Given the description of an element on the screen output the (x, y) to click on. 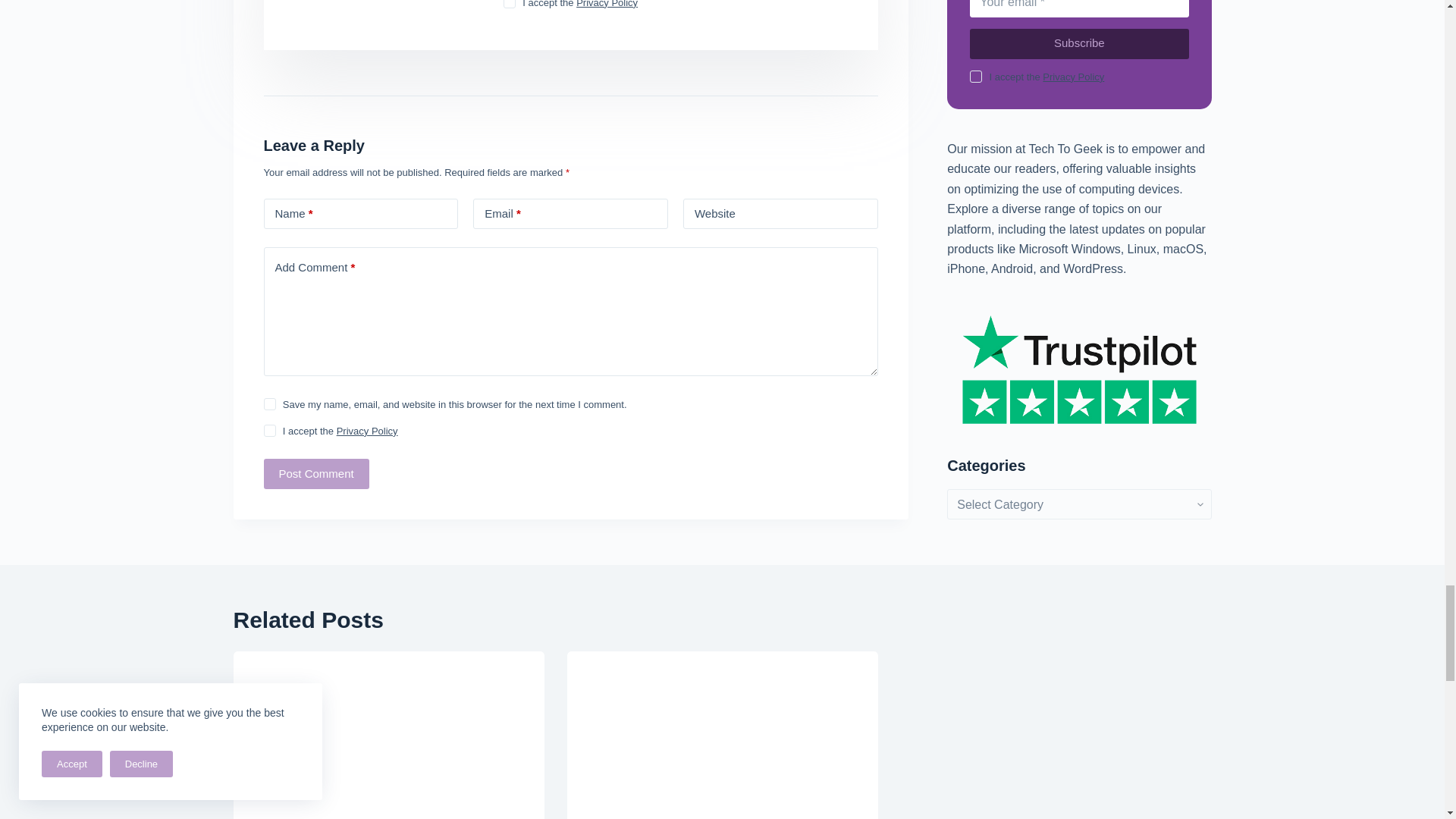
yes (269, 404)
on (269, 430)
on (509, 4)
